Given the description of an element on the screen output the (x, y) to click on. 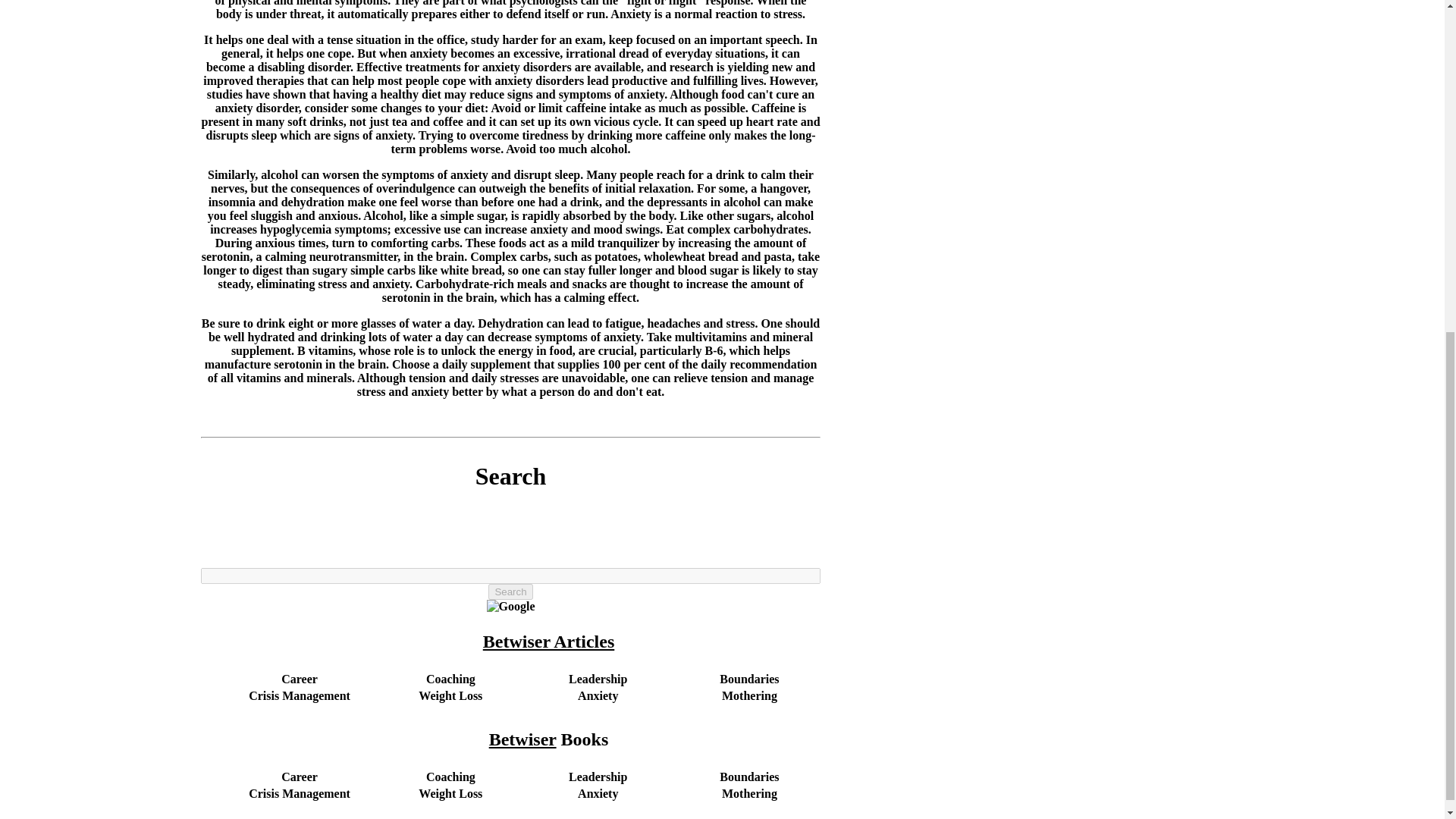
Coaching (451, 678)
Advertisement (918, 62)
Search (509, 591)
Weight Loss (450, 695)
Anxiety (597, 695)
Career (299, 776)
Coaching (451, 776)
Weight Loss (450, 793)
Advertisement (510, 546)
Leadership (598, 776)
